Given the description of an element on the screen output the (x, y) to click on. 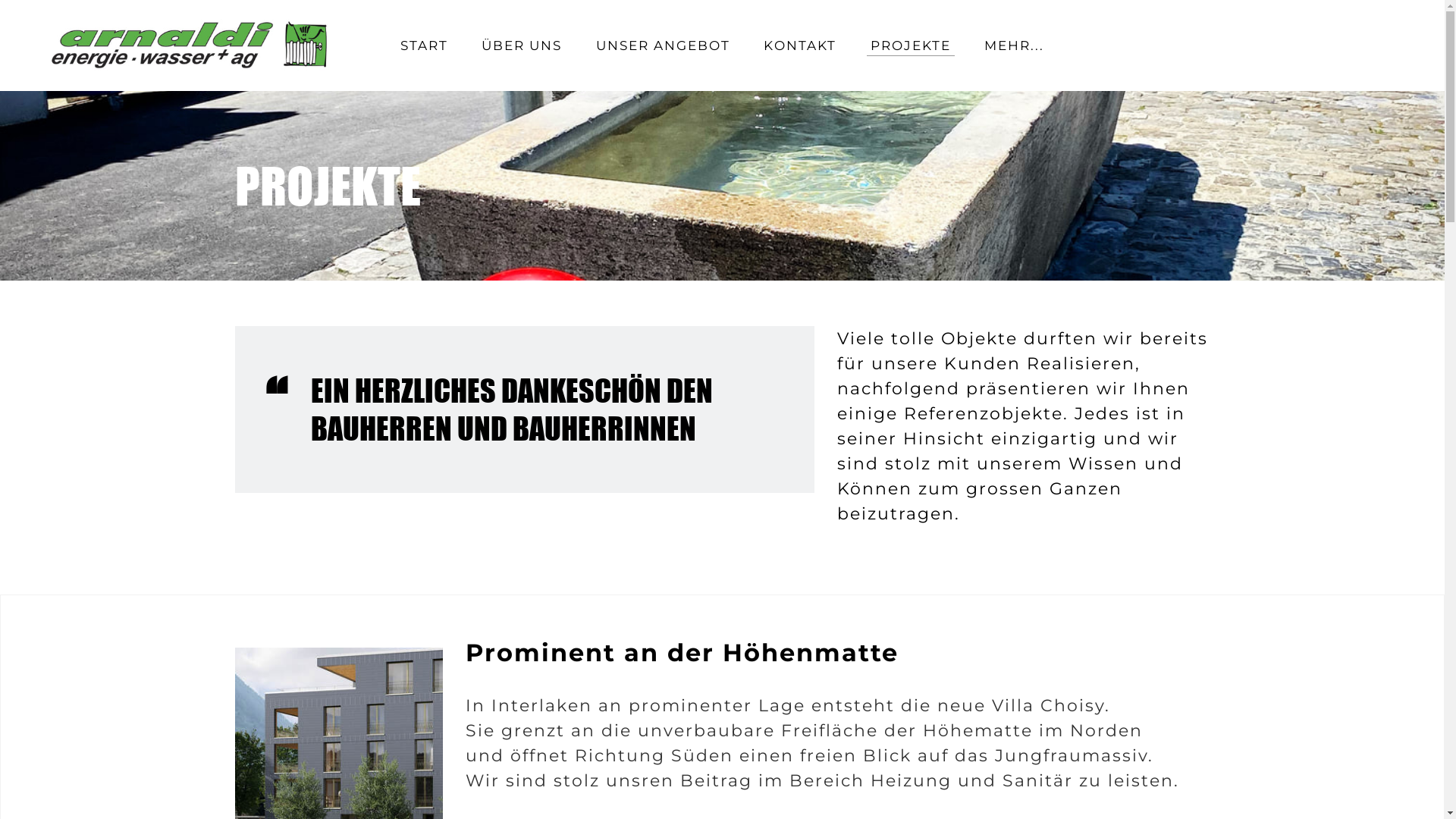
UNSER ANGEBOT Element type: text (662, 45)
MEHR... Element type: text (1014, 45)
START Element type: text (424, 45)
KONTAKT Element type: text (799, 45)
PROJEKTE Element type: text (910, 45)
